Given the description of an element on the screen output the (x, y) to click on. 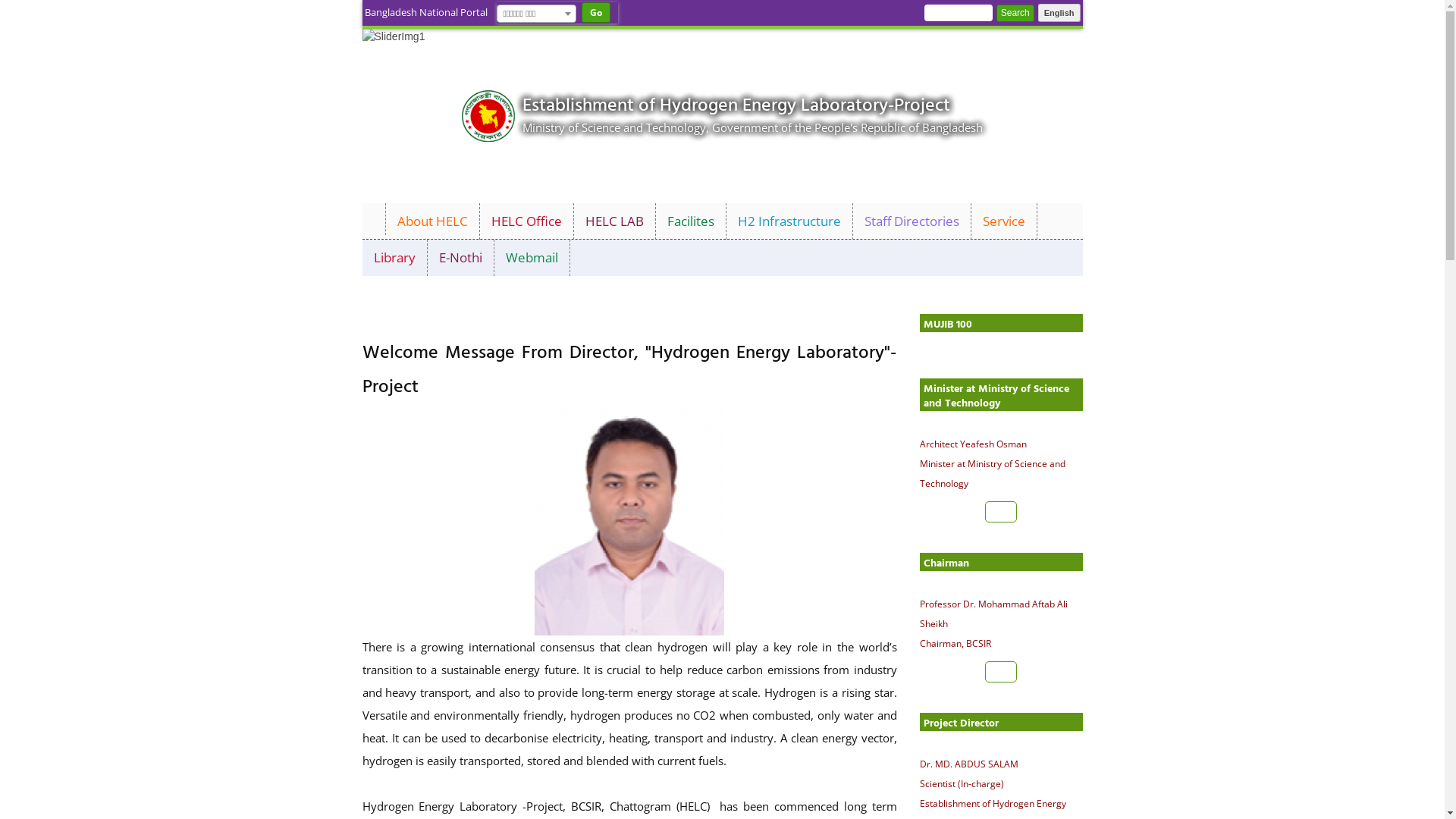
HELC Office Element type: text (526, 221)
About HELC Element type: text (432, 221)
Staff Directories Element type: text (911, 221)
H2 Infrastructure Element type: text (789, 221)
Facilites Element type: text (690, 221)
Webmail Element type: text (532, 257)
Service Element type: text (1003, 221)
E-Nothi Element type: text (460, 257)
Bangladesh National Portal Element type: text (425, 12)
Go Element type: text (594, 12)
English Element type: text (1059, 12)
Search Element type: text (1015, 12)
HELC LAB Element type: text (614, 221)
Library Element type: text (394, 257)
